Given the description of an element on the screen output the (x, y) to click on. 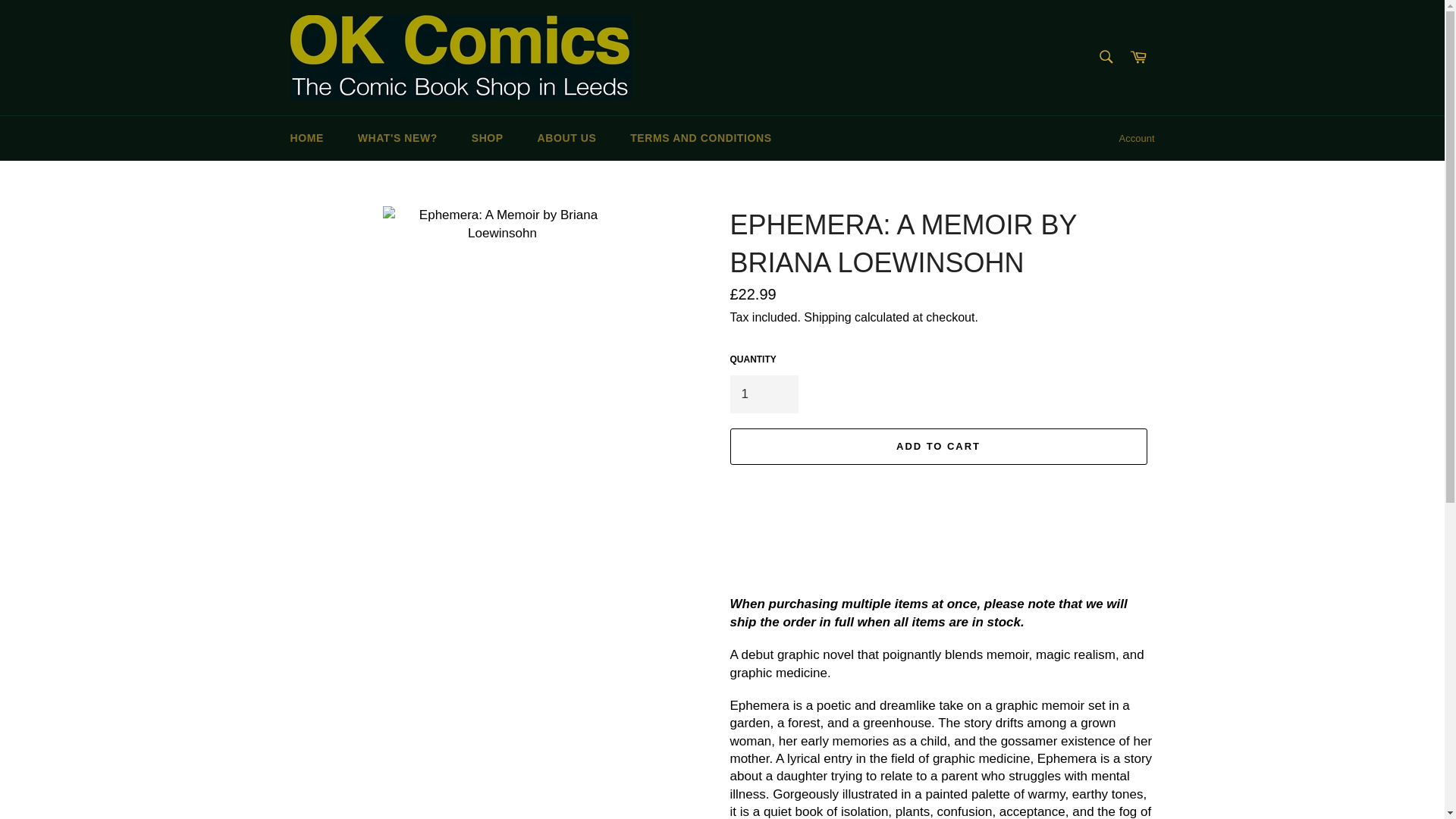
TERMS AND CONDITIONS (700, 138)
Search (1104, 56)
ADD TO CART (938, 446)
Account (1136, 138)
SHOP (487, 138)
Cart (1138, 57)
HOME (306, 138)
Shipping (826, 317)
WHAT'S NEW? (397, 138)
ABOUT US (566, 138)
1 (763, 393)
